Given the description of an element on the screen output the (x, y) to click on. 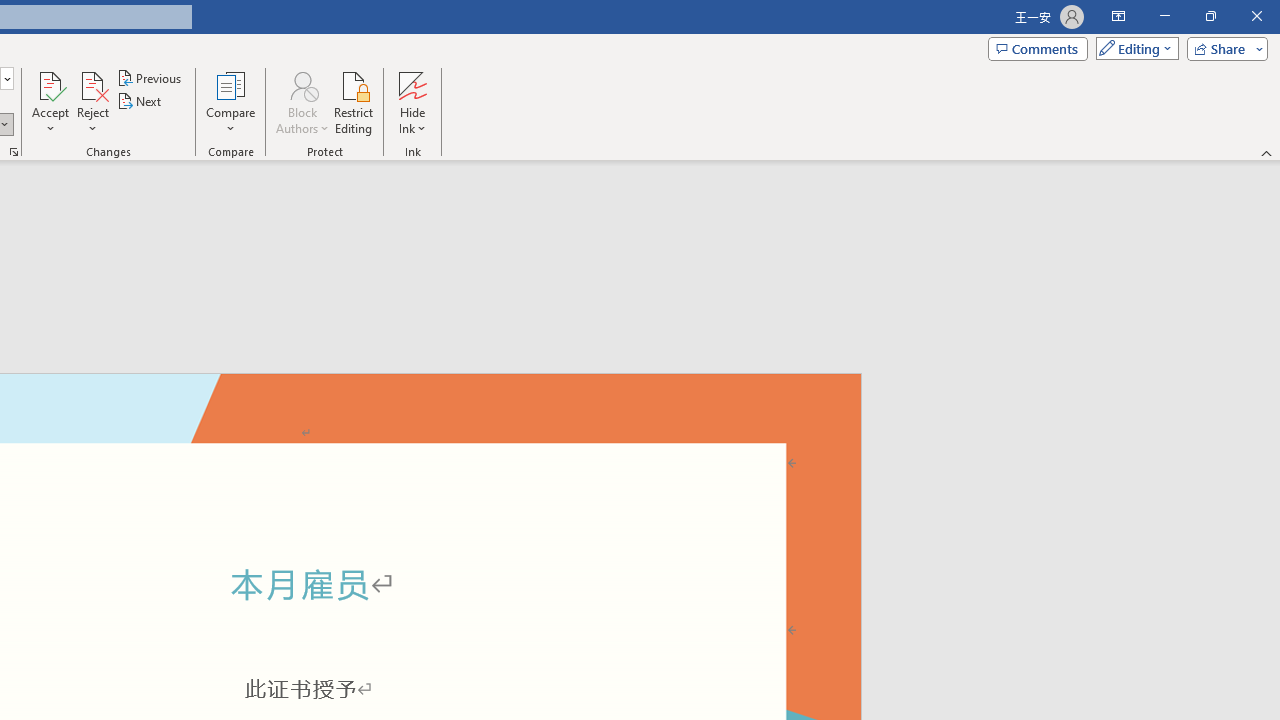
Restore Down (1210, 16)
Next (140, 101)
Share (1223, 48)
Ribbon Display Options (1118, 16)
Comments (1038, 48)
Reject and Move to Next (92, 84)
Previous (150, 78)
More Options (412, 121)
